Given the description of an element on the screen output the (x, y) to click on. 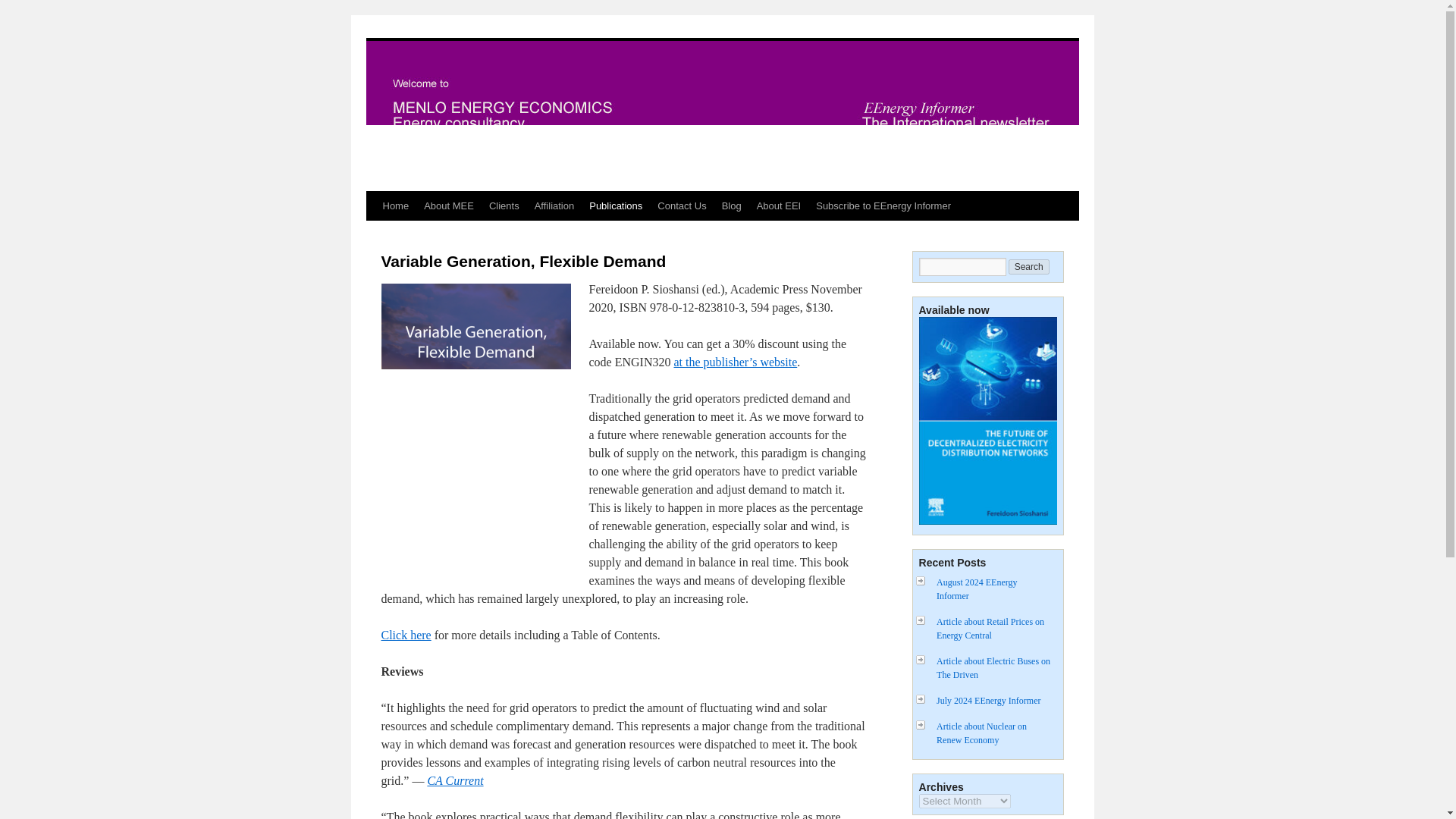
Click here (405, 634)
August 2024 EEnergy Informer (976, 589)
Contact Us (681, 205)
Publications (614, 205)
About EEI (779, 205)
Blog (731, 205)
Subscribe to EEnergy Informer (883, 205)
Clients (504, 205)
About MEE (448, 205)
Home (395, 205)
Article about Retail Prices on Energy Central (989, 628)
Search (1029, 266)
Affiliation (554, 205)
Search (1029, 266)
CA Current (454, 780)
